Given the description of an element on the screen output the (x, y) to click on. 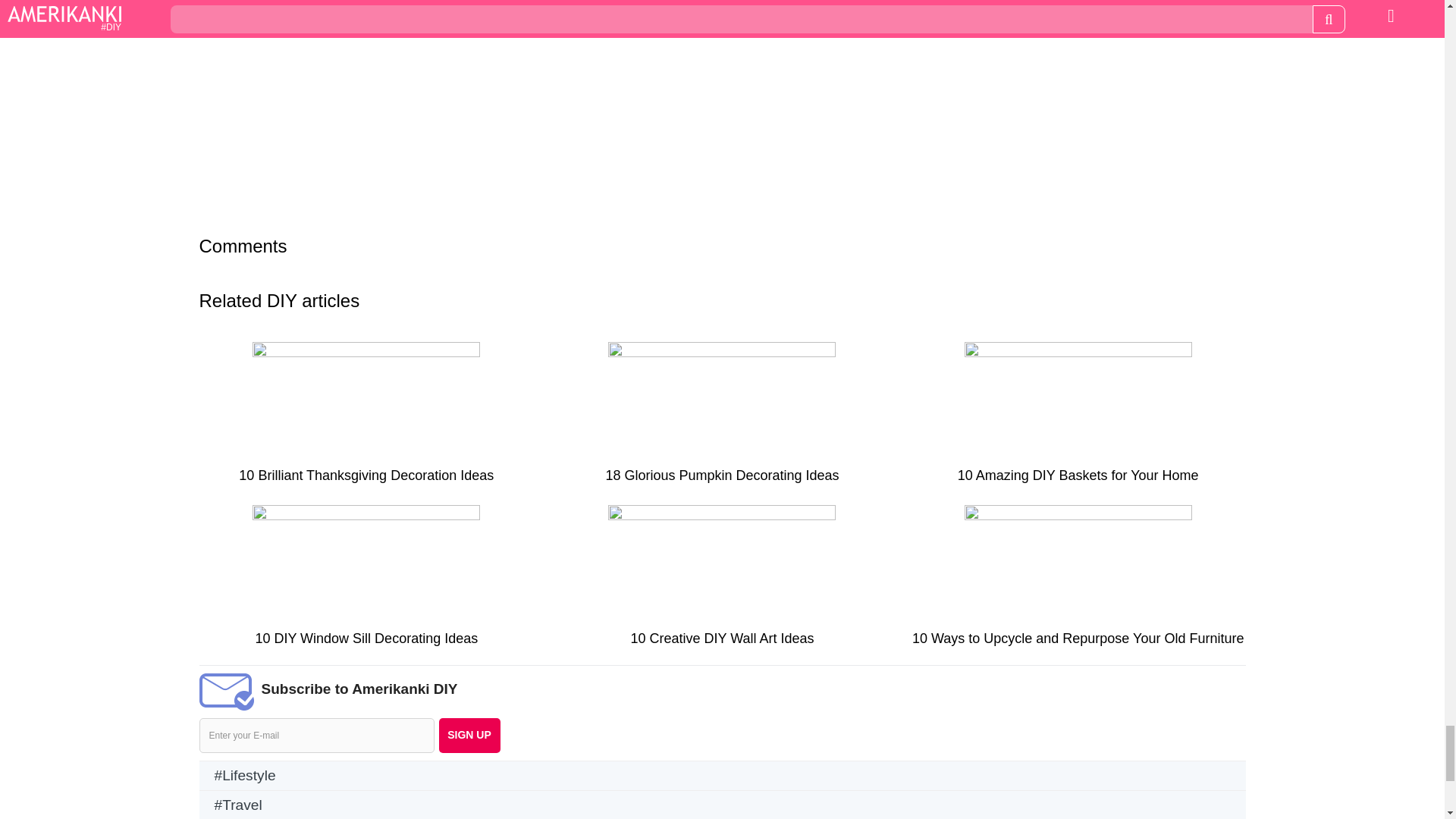
10 DIY WINE BOTTLE CENTERPIECES FOR YOUR HOME (1019, 3)
10 DIY Wine Bottle Centerpieces for Your Home (1019, 3)
10 BEAUTIFUL DIY CLOSET ORGANIZERS (422, 3)
10 Brilliant Thanksgiving Decoration Ideas (366, 419)
10 Beautiful DIY Closet Organizers (422, 3)
